Given the description of an element on the screen output the (x, y) to click on. 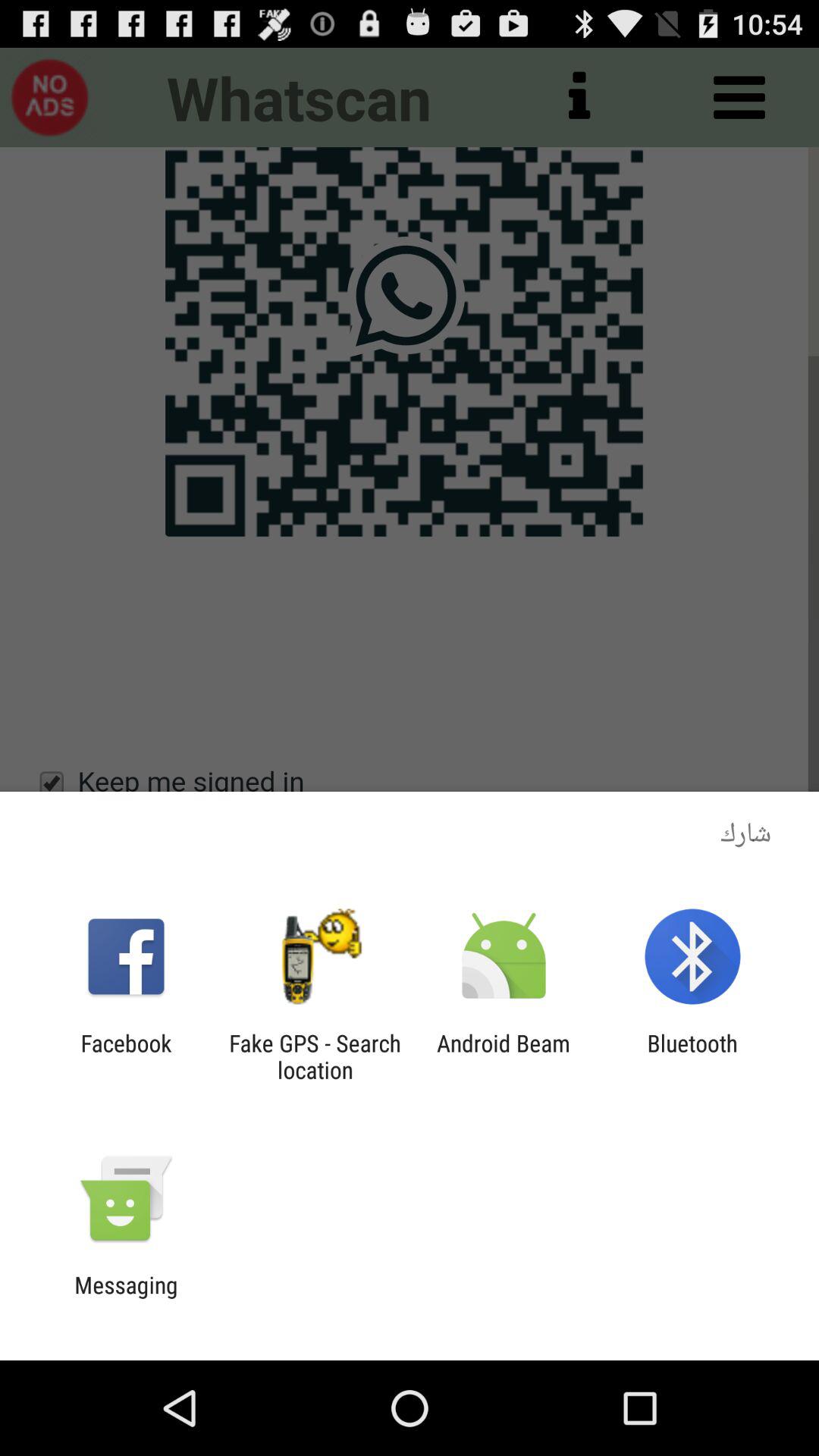
press the bluetooth app (692, 1056)
